Given the description of an element on the screen output the (x, y) to click on. 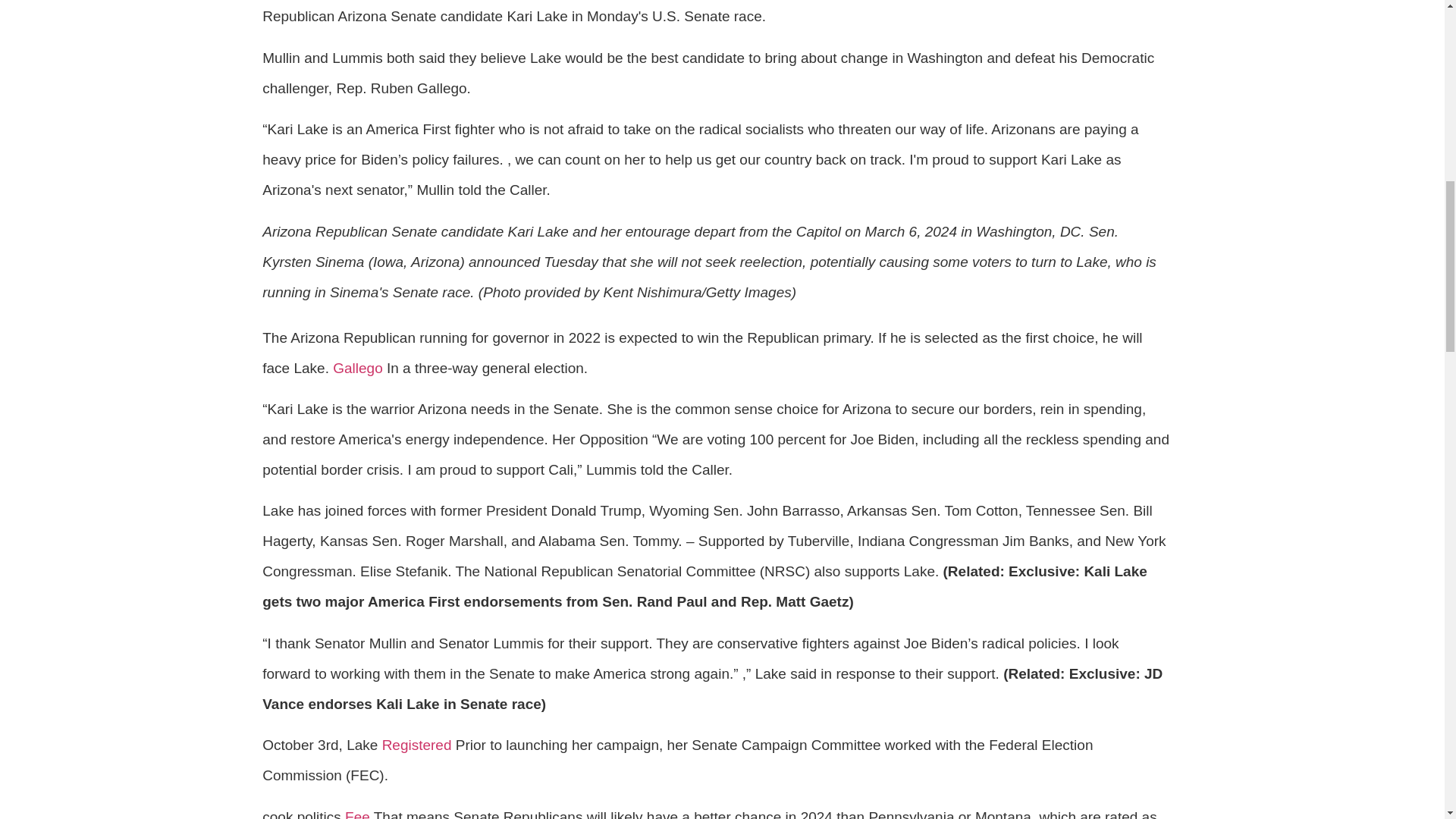
Fee (357, 814)
Registered (416, 744)
Gallego (357, 367)
